Given the description of an element on the screen output the (x, y) to click on. 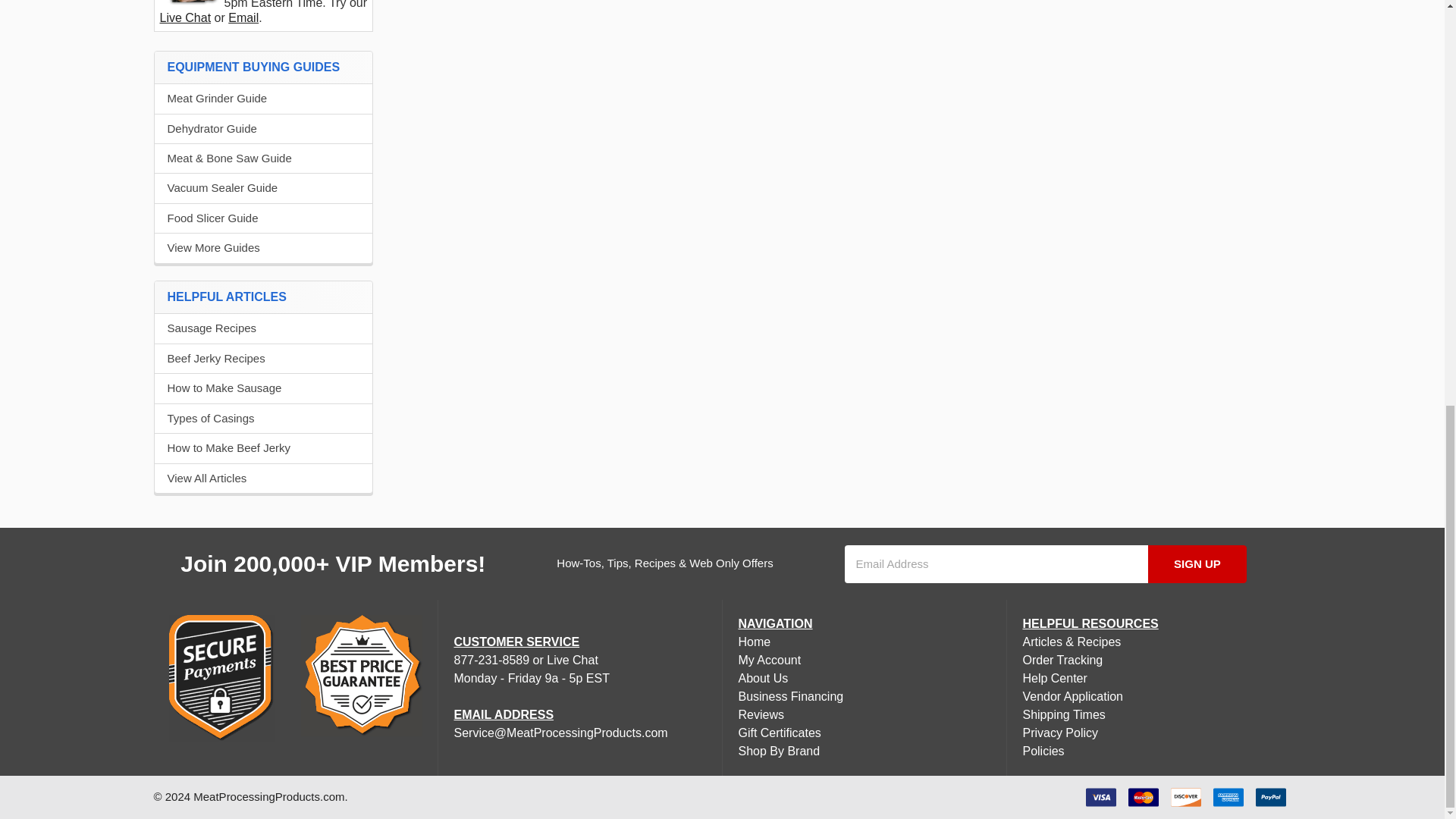
Dehydrator Guide (263, 129)
Types of Sausage Casings (263, 418)
View More Equipment Guides (263, 248)
Customer Service (191, 2)
Sign Up (1197, 564)
Food Slicer Guide (263, 218)
Sausage Recipes (263, 328)
Meat Grinder Guide (263, 98)
Beef Jerky Recipes (263, 358)
How to Make Sausage (263, 388)
Vacuum Sealer Guide (263, 188)
